Given the description of an element on the screen output the (x, y) to click on. 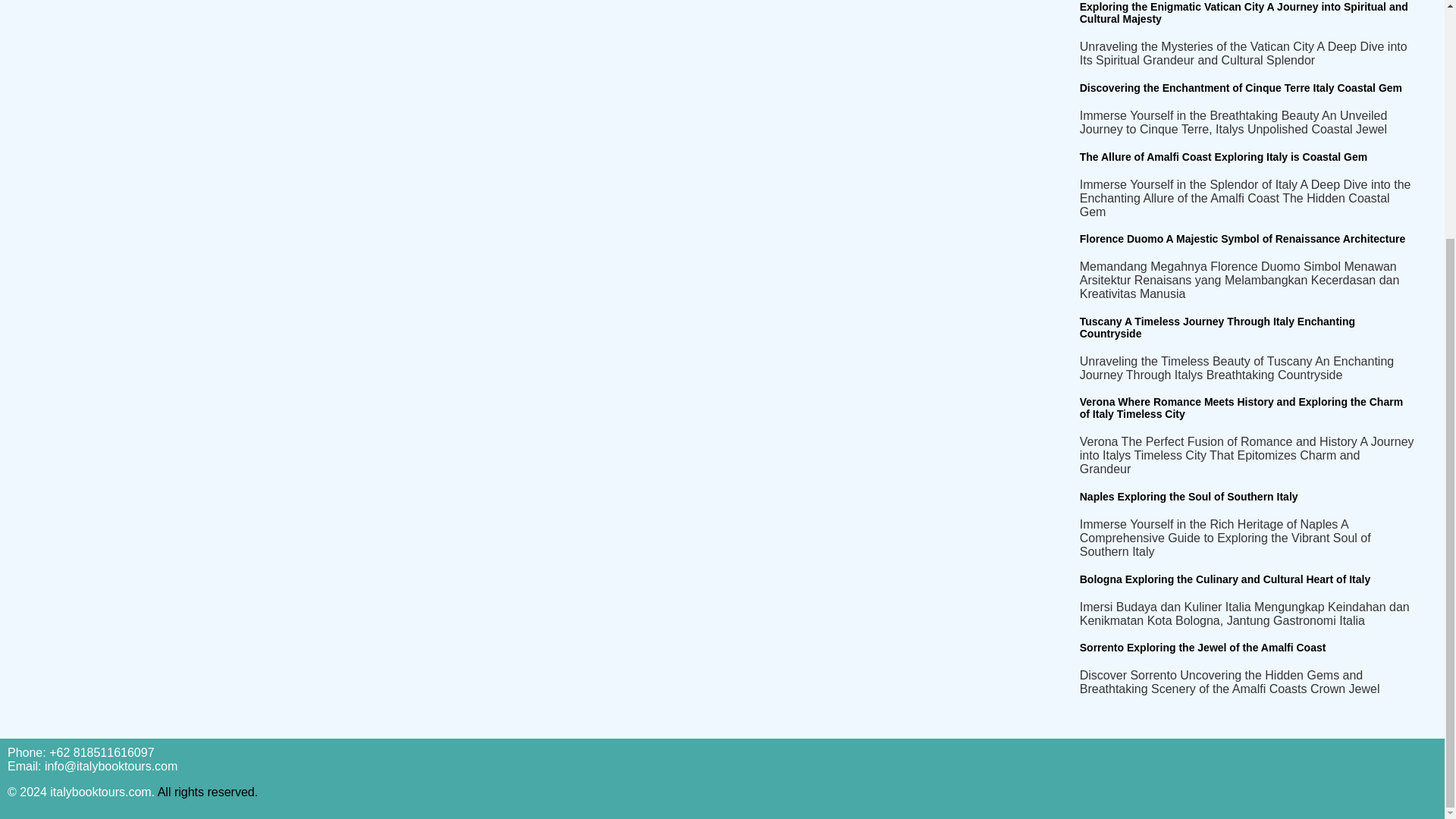
Florence Duomo A Majestic Symbol of Renaissance Architecture (1242, 238)
Naples Exploring the Soul of Southern Italy (1189, 496)
Sorrento Exploring the Jewel of the Amalfi Coast (1203, 647)
Bologna Exploring the Culinary and Cultural Heart of Italy (1225, 579)
High Reputation Website (208, 791)
All rights reserved. (208, 791)
The Allure of Amalfi Coast Exploring Italy is Coastal Gem (1223, 156)
